Given the description of an element on the screen output the (x, y) to click on. 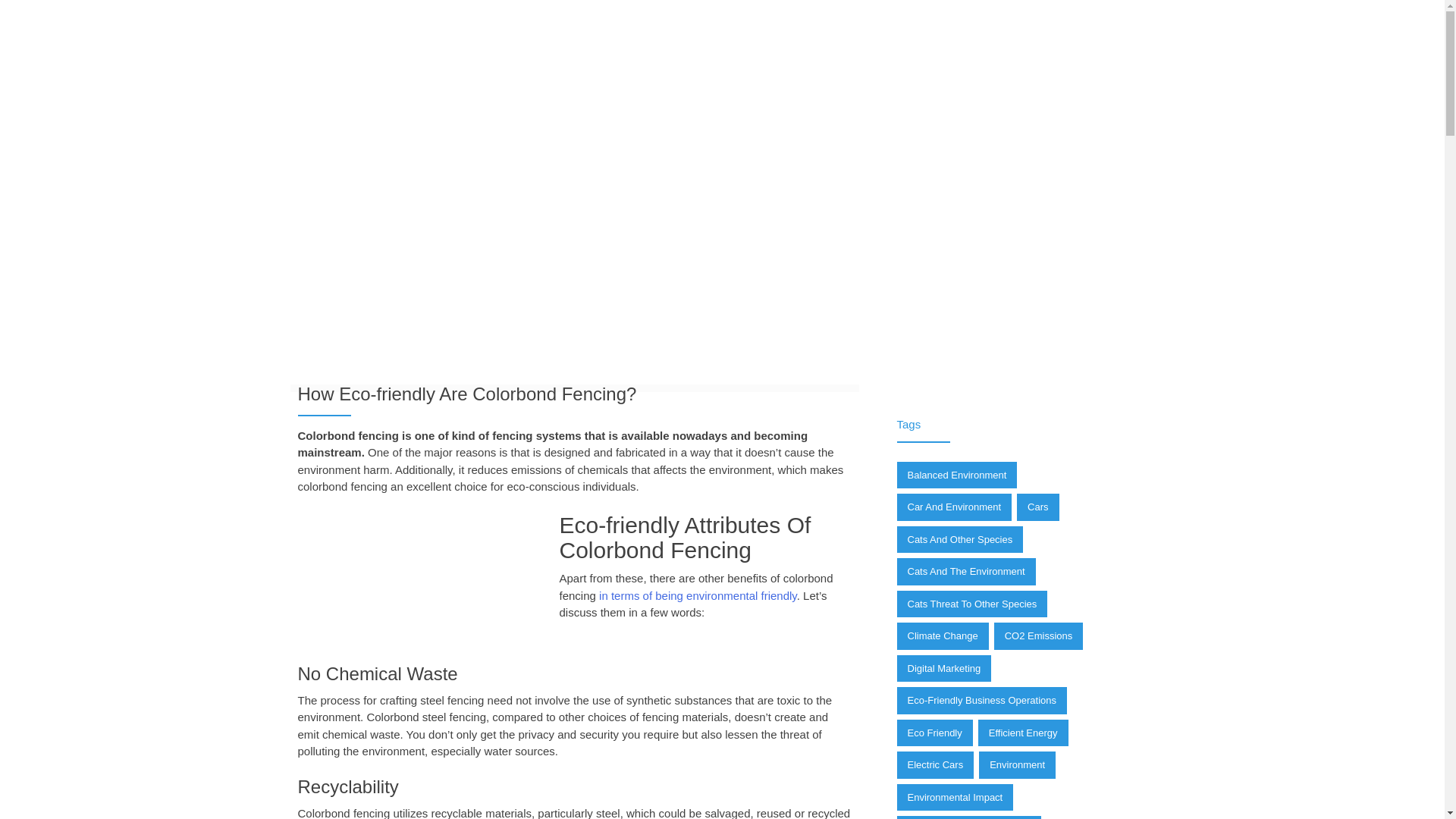
CO2 Emissions (1038, 636)
Own Energy (330, 306)
Cats Threat To Other Species (971, 604)
Eco-Friendly Business Operations (981, 700)
Car And Environment (953, 506)
What Impact Does the Environment Have on Us? (697, 594)
Conservation (863, 272)
Cars (1037, 506)
Digital Marketing (943, 668)
Balanced Environment (956, 474)
